Given the description of an element on the screen output the (x, y) to click on. 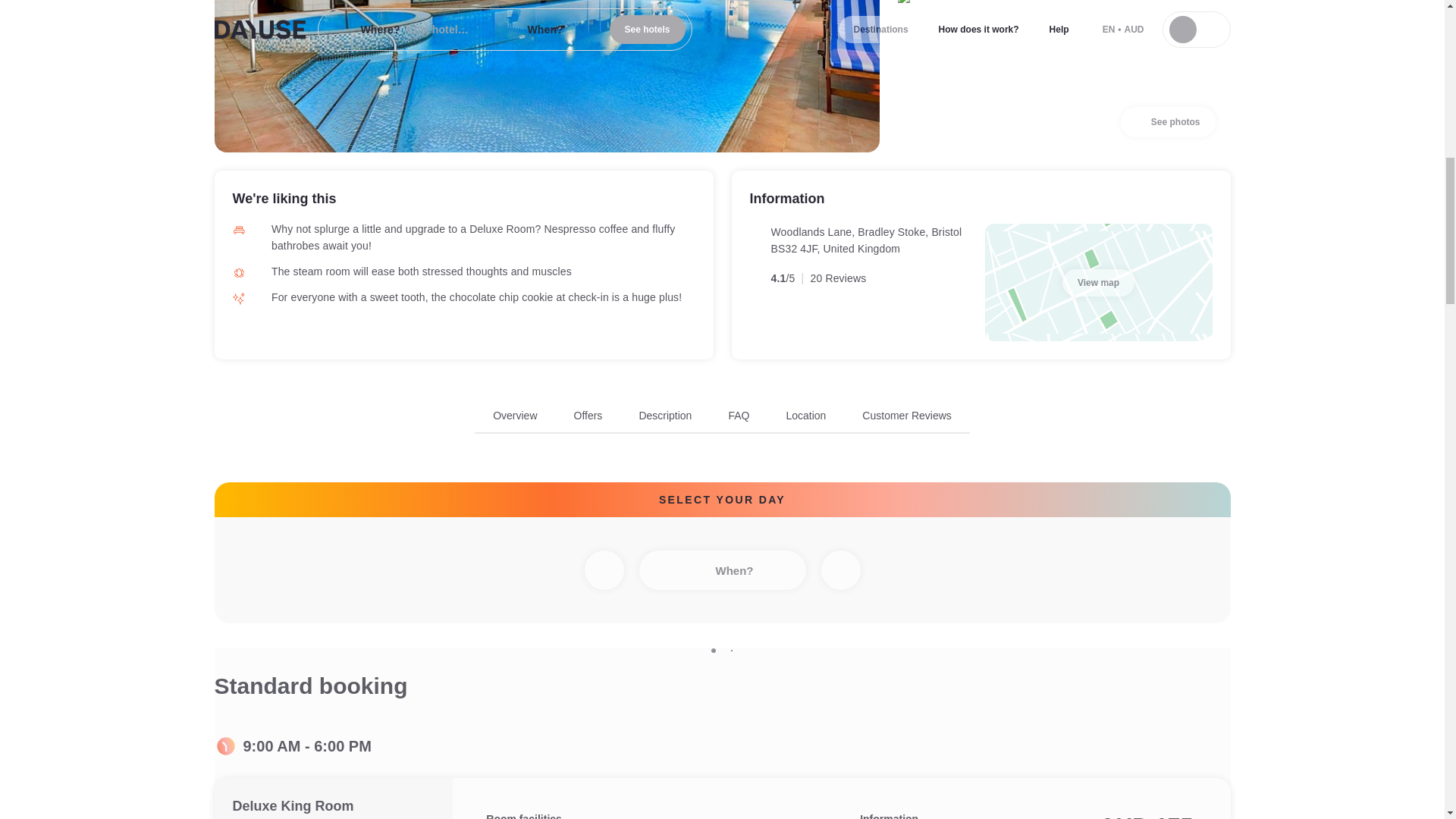
Overview (515, 415)
Location (805, 415)
View map (1098, 282)
When? (722, 569)
Offers (587, 415)
Customer Reviews (905, 415)
Previous day (603, 569)
FAQ (738, 415)
Description (665, 415)
See photos (1168, 122)
